Given the description of an element on the screen output the (x, y) to click on. 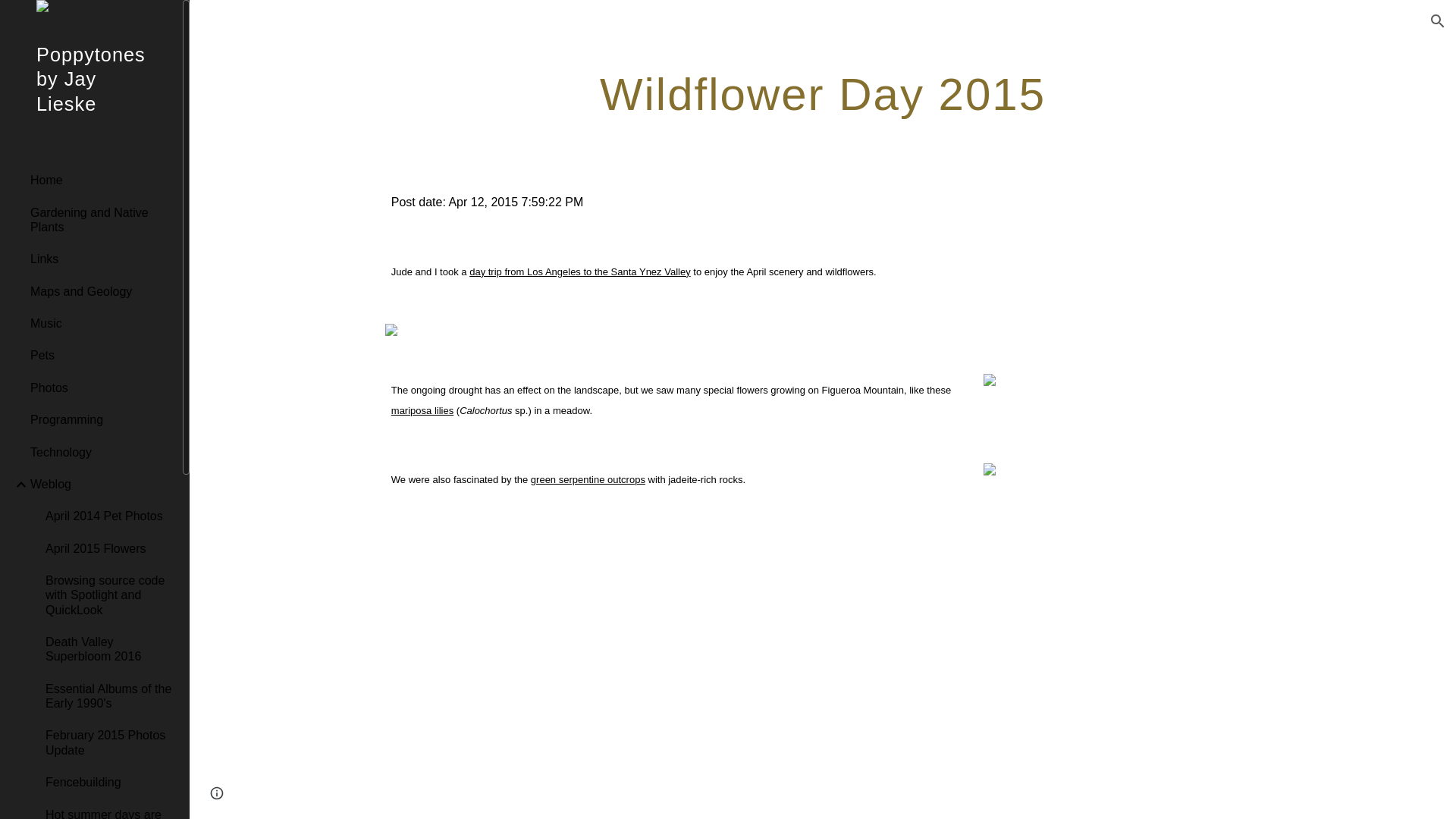
Pets (100, 355)
mariposa lilies (670, 419)
Fencebuilding (107, 782)
February 2015 Photos Update (107, 742)
April 2014 Pet Photos (107, 516)
Gardening and Native Plants (100, 219)
April 2015 Flowers (107, 548)
Photos (100, 387)
Music (100, 323)
Programming (100, 419)
day trip from Los Angeles to the Santa Ynez Valley (578, 270)
Essential Albums of the Early 1990's (107, 695)
Links (100, 259)
Poppytones by Jay Lieske (91, 98)
Weblog (100, 483)
